Given the description of an element on the screen output the (x, y) to click on. 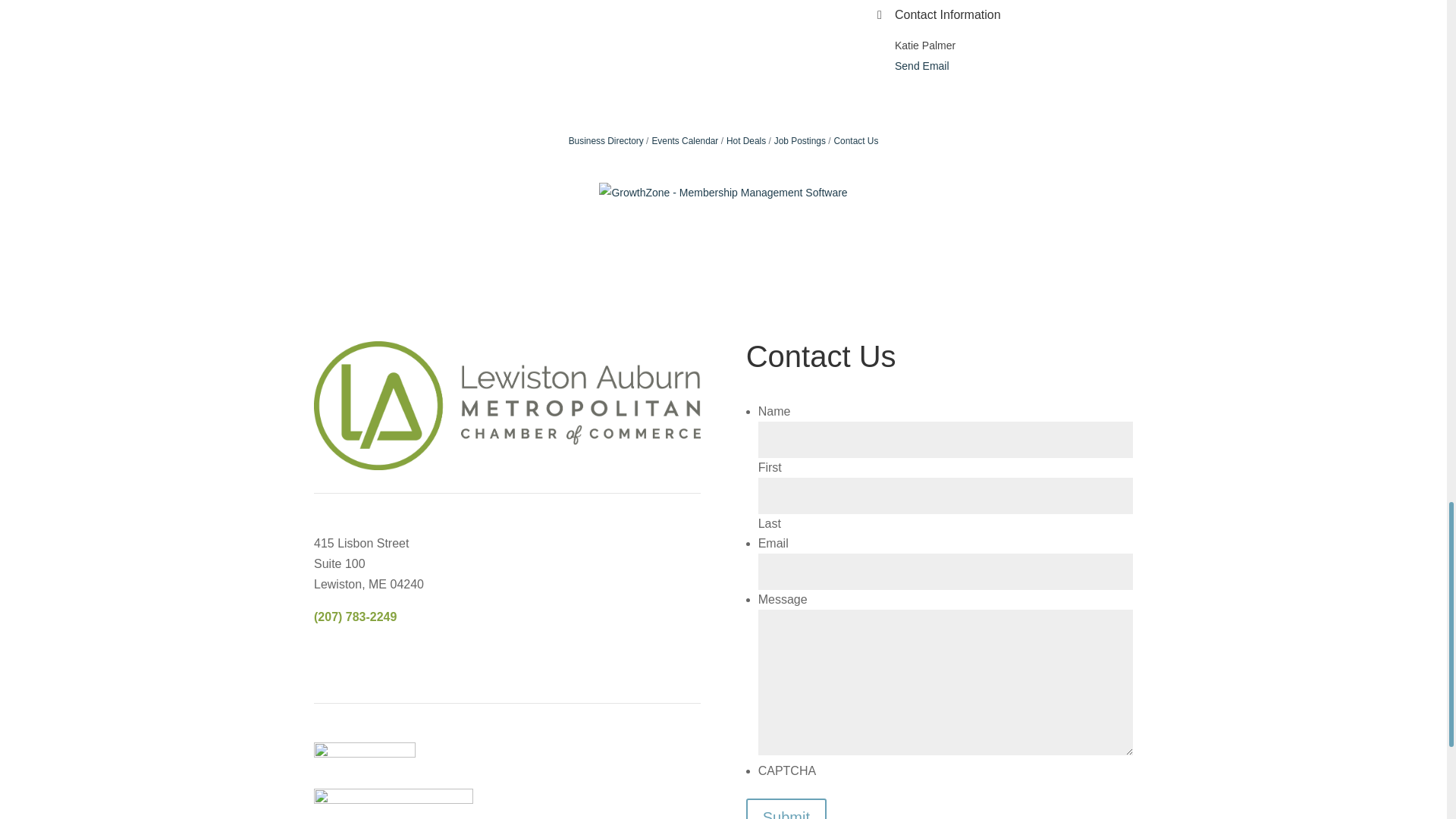
Follow on LinkedIn (386, 662)
Follow on Facebook (325, 662)
Follow on X (355, 662)
